Given the description of an element on the screen output the (x, y) to click on. 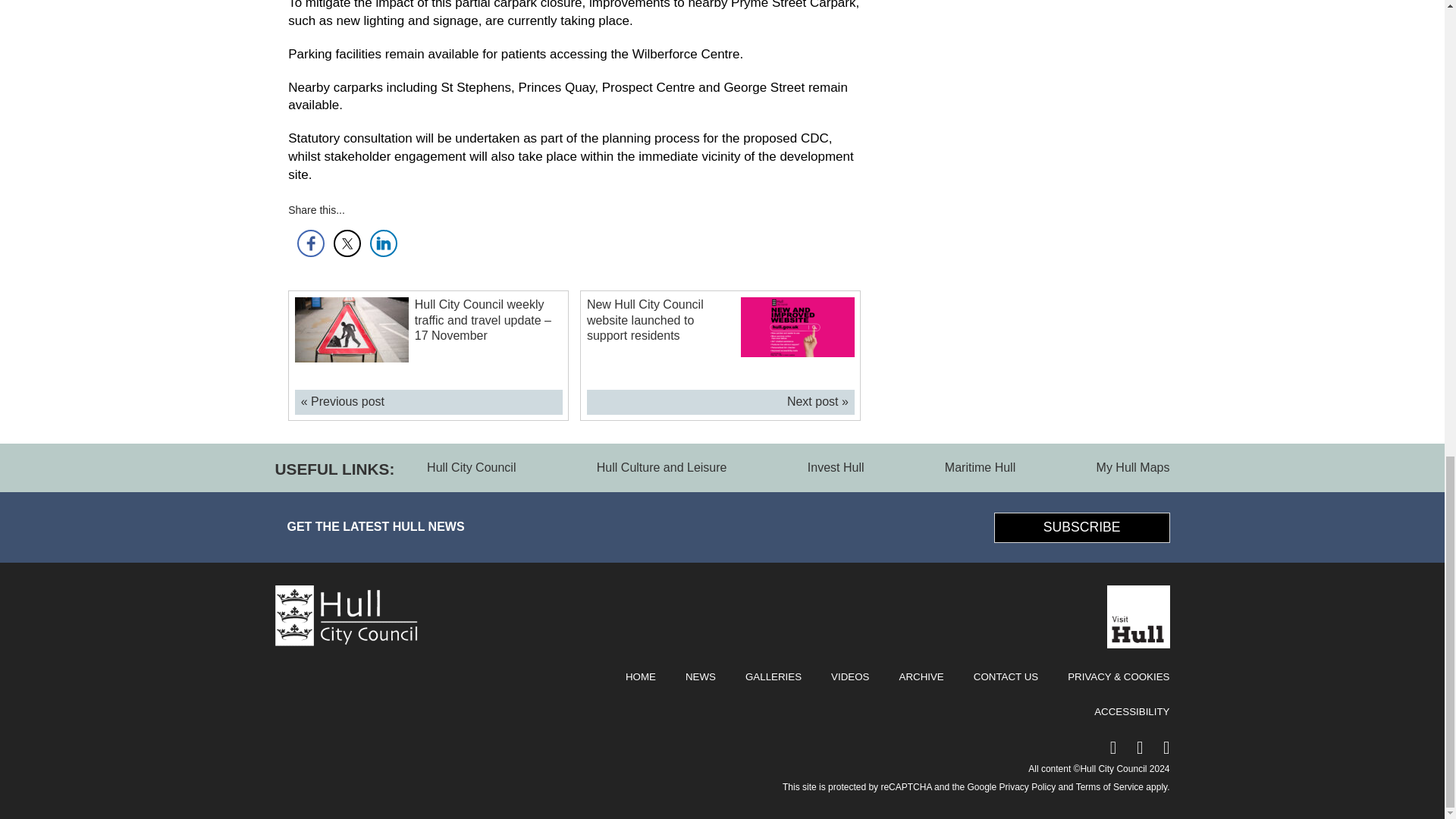
Hull City Council (470, 467)
New Hull City Council website launched to support residents  (644, 320)
Subscribe (1082, 527)
Hull Culture and Leisure (661, 467)
Invest Hull (836, 467)
Hull City Council (346, 636)
